Given the description of an element on the screen output the (x, y) to click on. 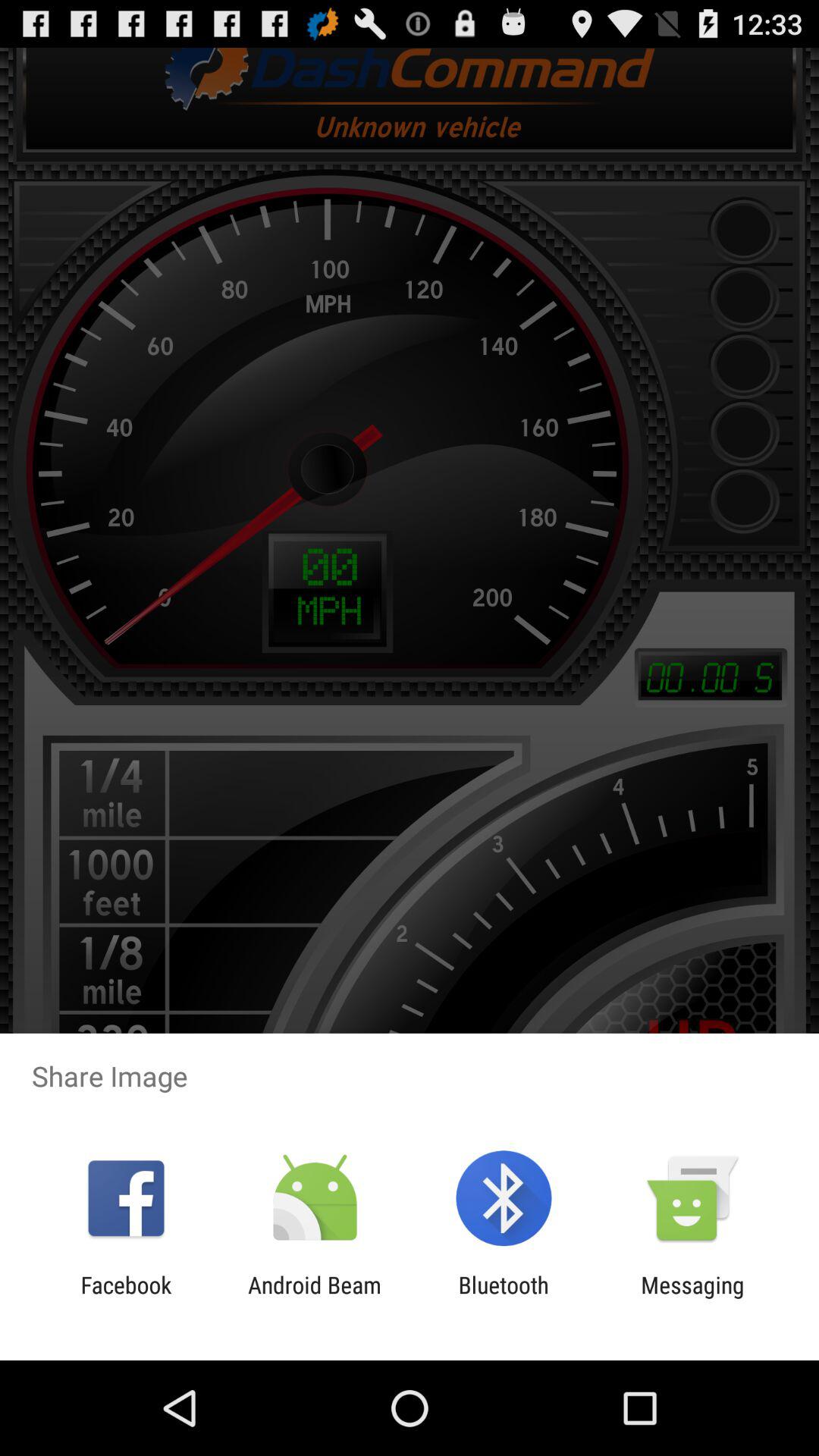
scroll until bluetooth item (503, 1298)
